Given the description of an element on the screen output the (x, y) to click on. 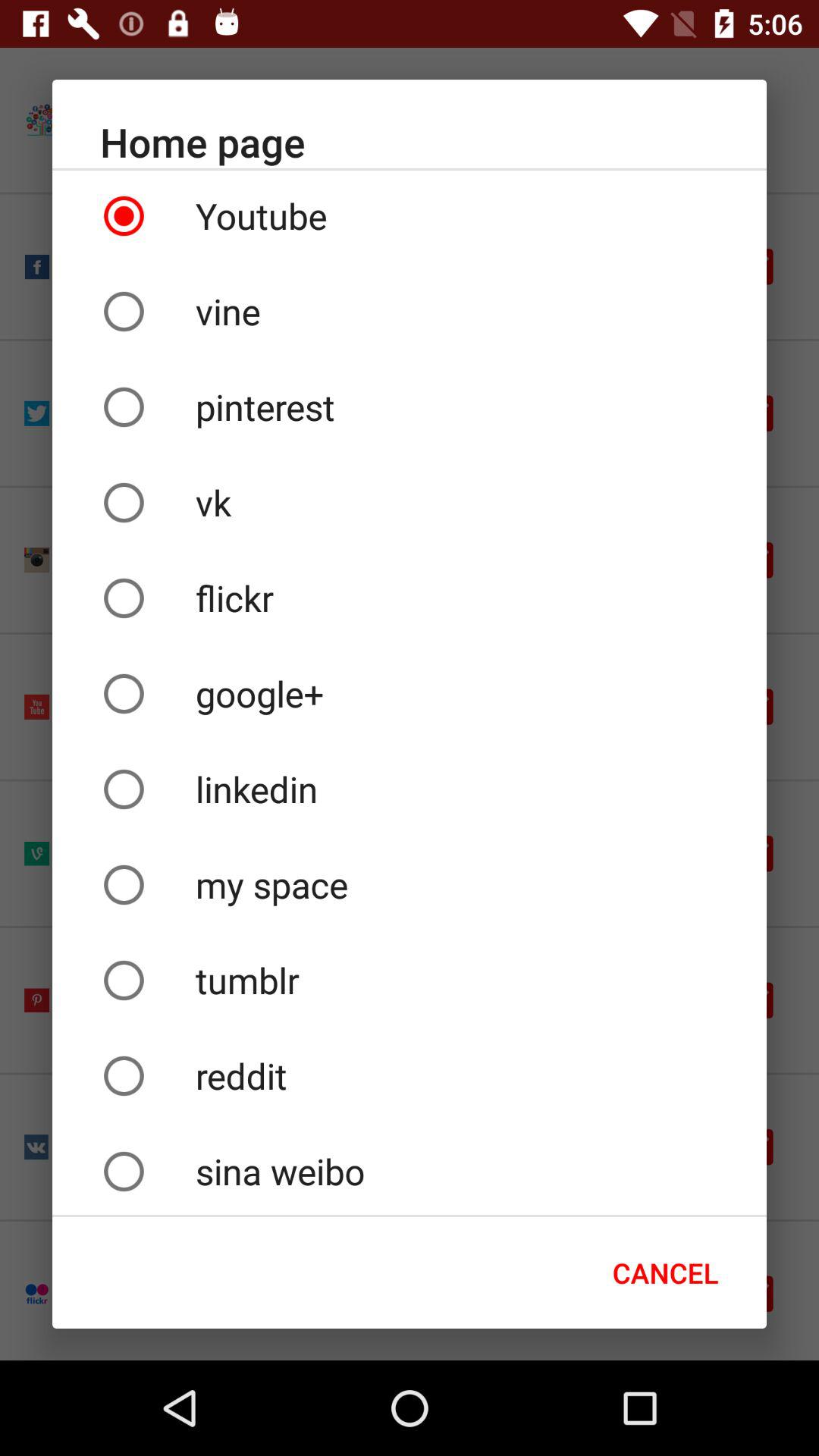
launch the cancel item (665, 1272)
